Given the description of an element on the screen output the (x, y) to click on. 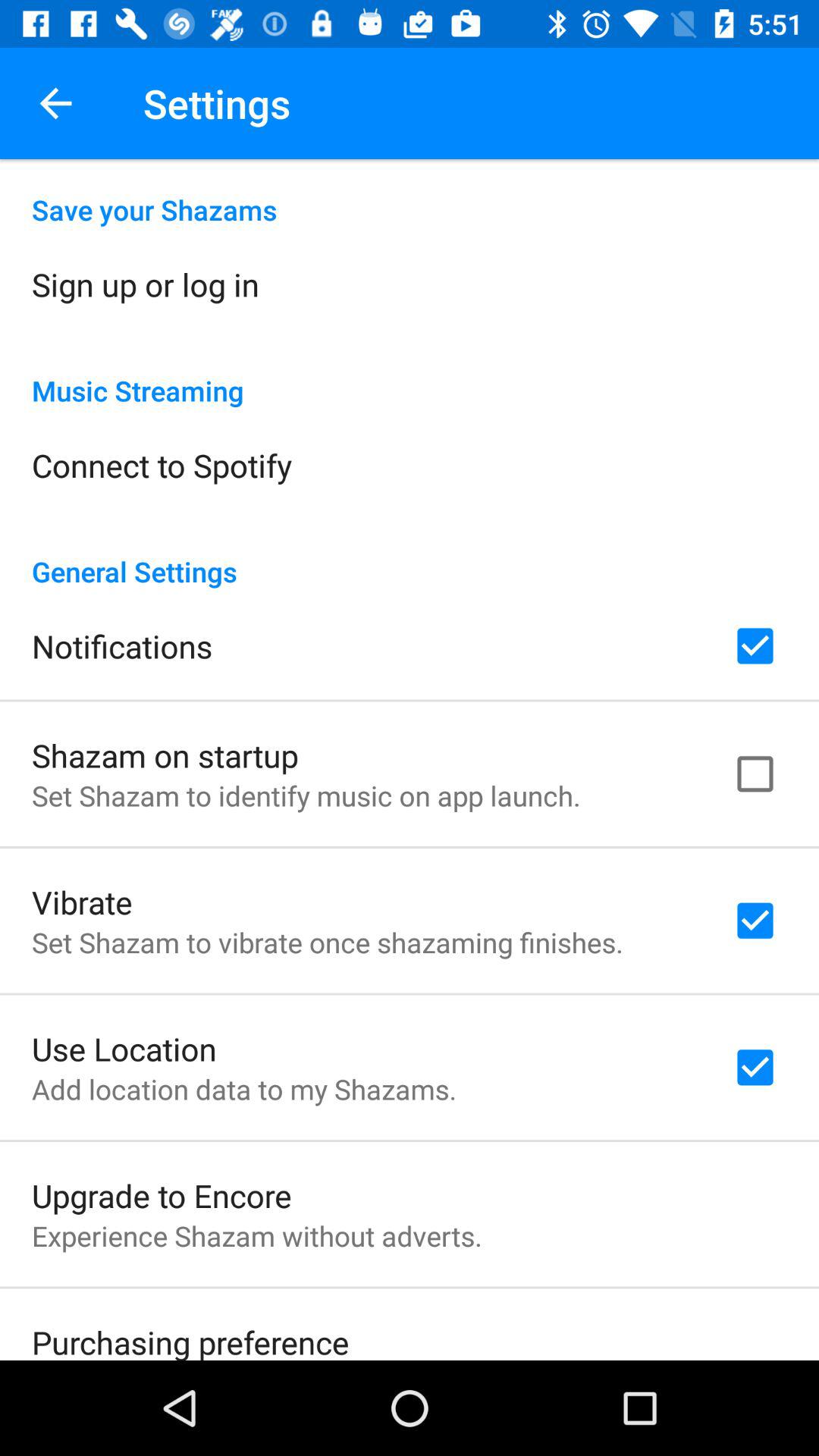
turn off the connect to spotify item (161, 464)
